Given the description of an element on the screen output the (x, y) to click on. 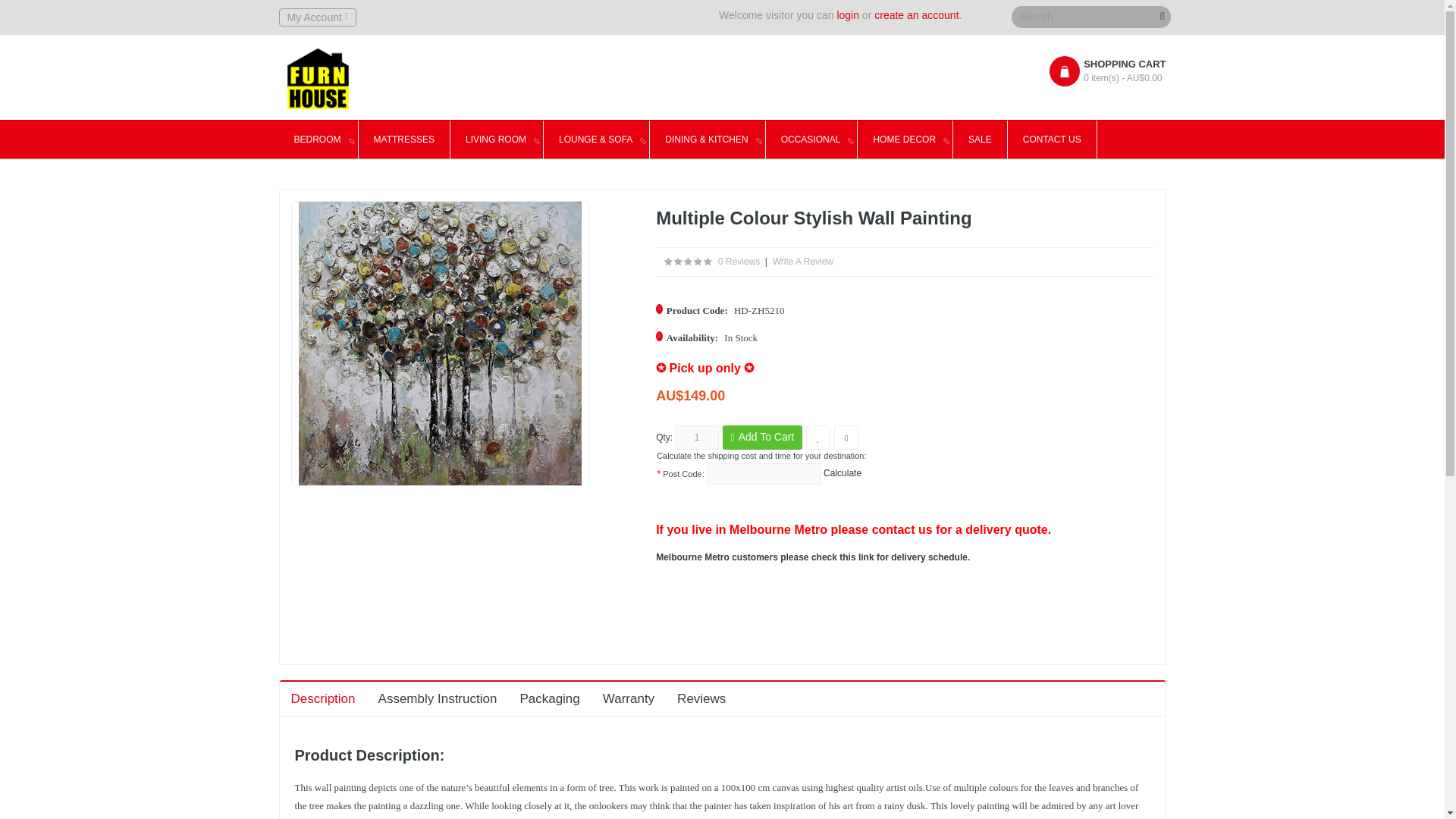
MATTRESSES (403, 139)
Furn House (317, 78)
LIVING ROOM (496, 139)
1 (697, 437)
login (847, 15)
My Account (317, 17)
Multiple Colour Stylish Wall Painting (440, 343)
create an account (916, 15)
BEDROOM (318, 139)
